Given the description of an element on the screen output the (x, y) to click on. 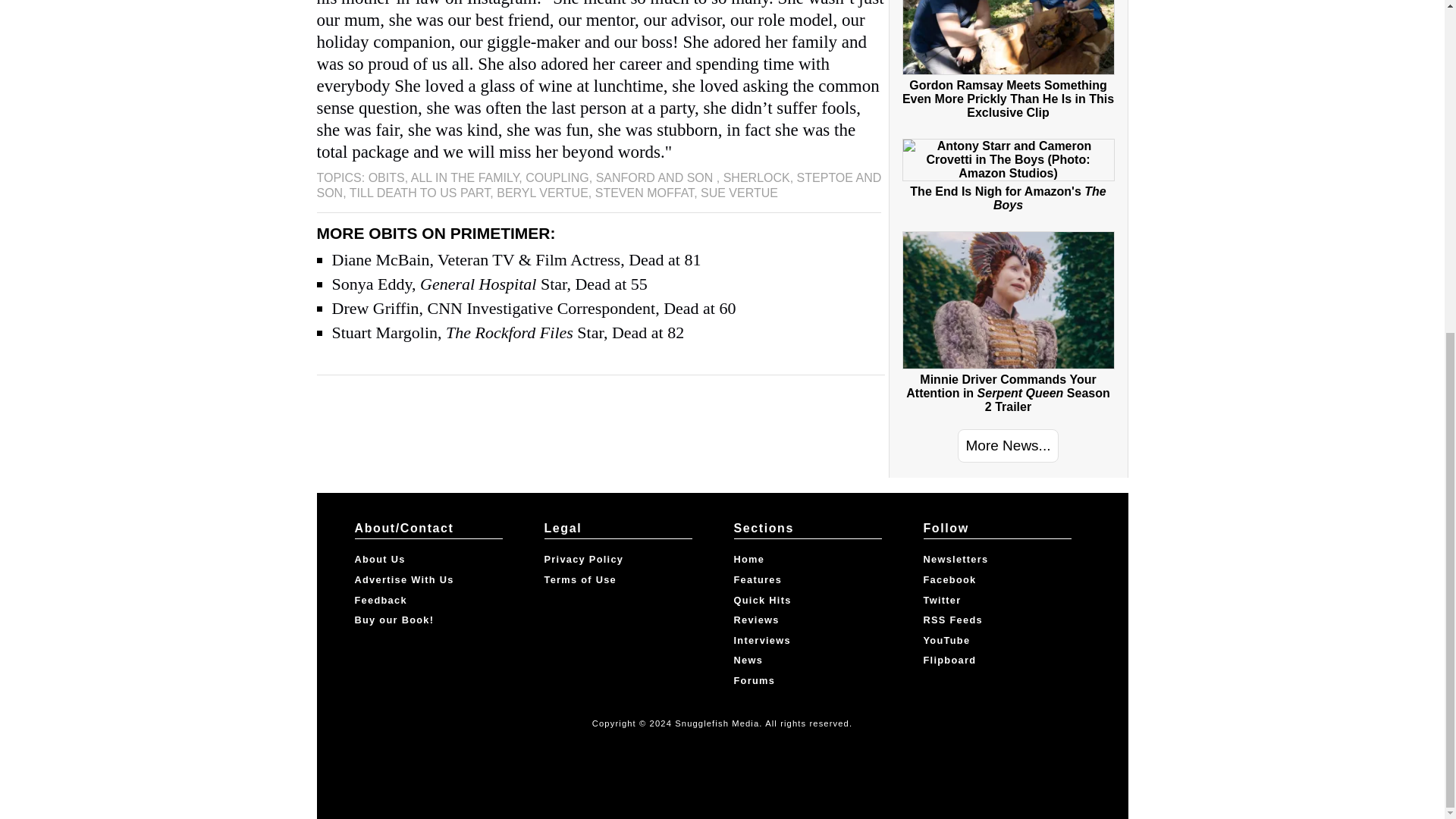
TILL DEATH TO US PART (419, 192)
COUPLING (557, 177)
SHERLOCK (756, 177)
STEPTOE AND SON (599, 185)
OBITS (386, 177)
SANFORD AND SON (655, 177)
ALL IN THE FAMILY (464, 177)
